Given the description of an element on the screen output the (x, y) to click on. 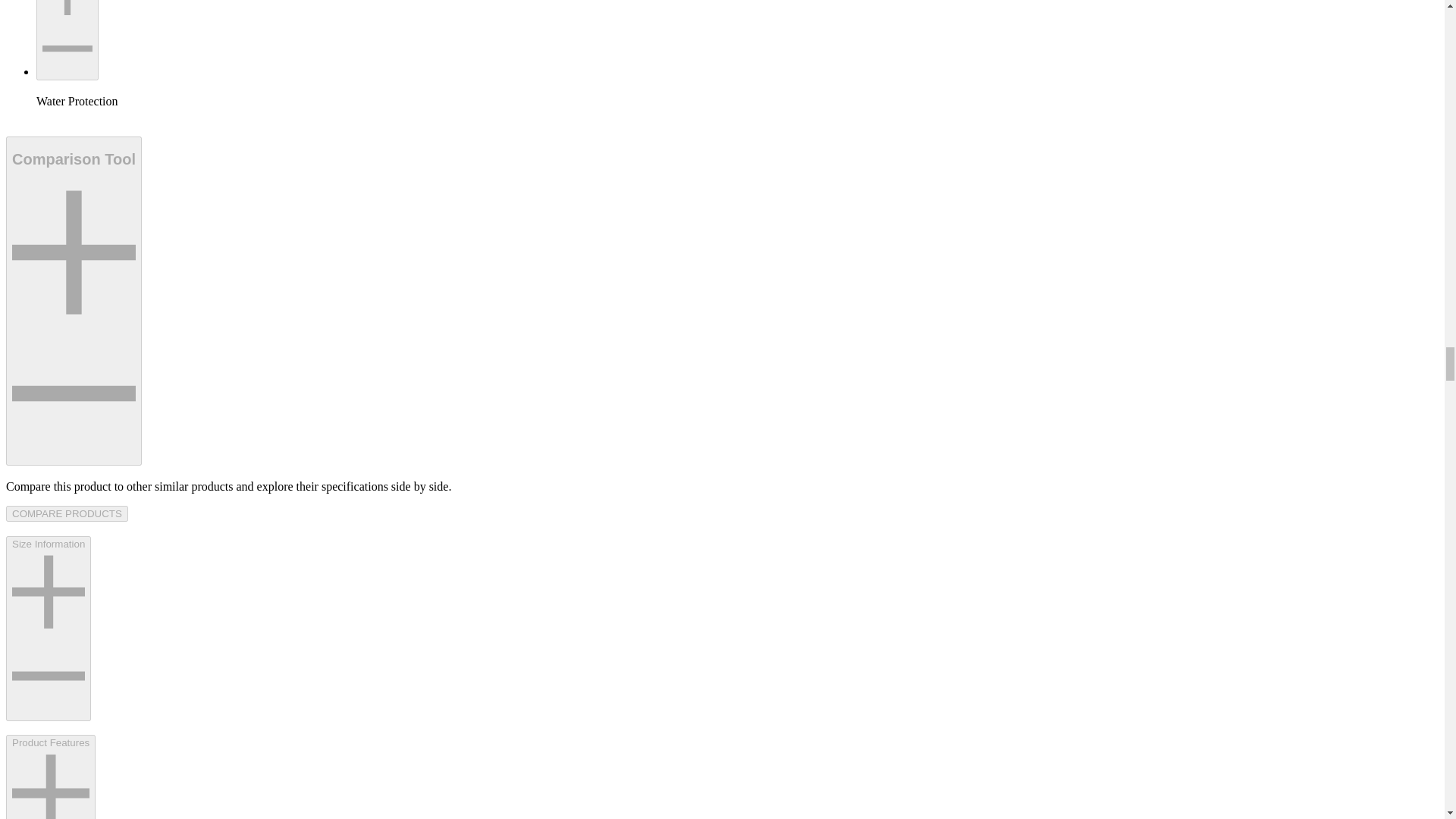
Comparison Tool (73, 301)
Read more (67, 40)
COMPARE PRODUCTS (66, 513)
Size Information (47, 628)
